Given the description of an element on the screen output the (x, y) to click on. 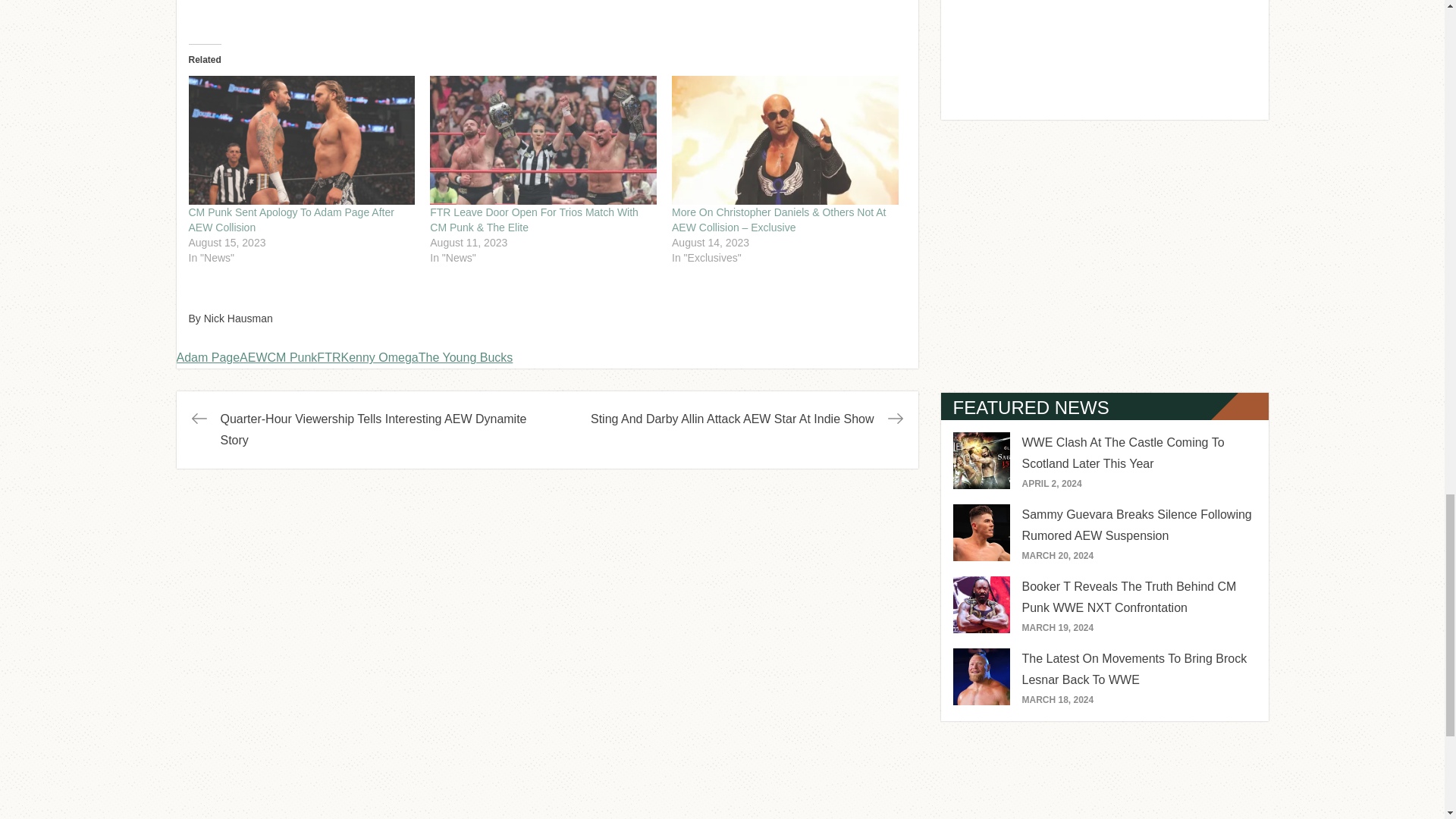
Nick Hausman (238, 318)
Advertisement (1104, 56)
Kenny Omega (378, 357)
CM Punk (292, 357)
CM Punk Sent Apology To Adam Page After AEW Collision (290, 219)
Adam Page (208, 357)
CM Punk Sent Apology To Adam Page After AEW Collision (290, 219)
FTR (328, 357)
Advertisement (1104, 255)
AEW (253, 357)
